Given the description of an element on the screen output the (x, y) to click on. 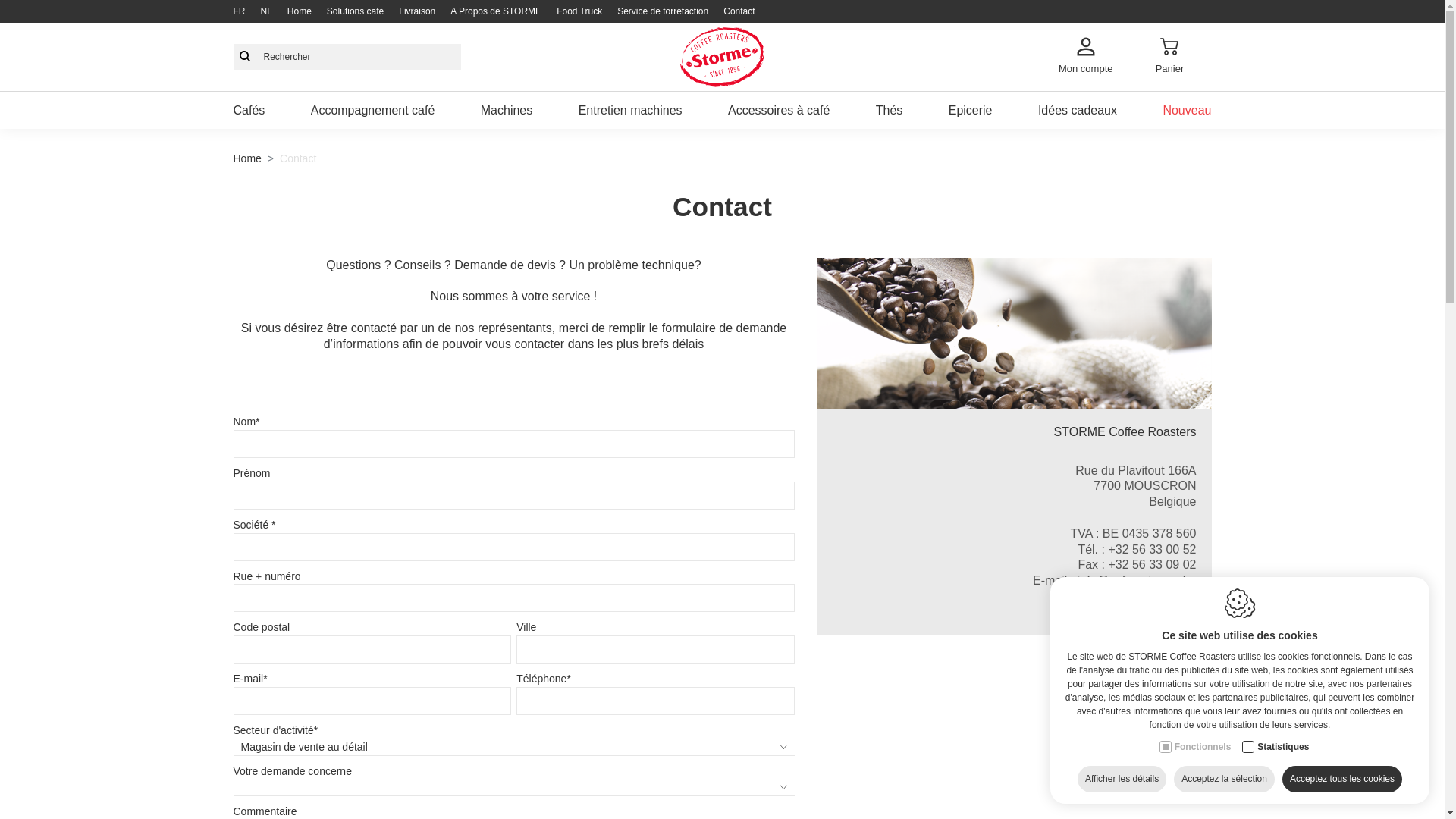
Machines Element type: text (506, 110)
Livraison Element type: text (417, 11)
Mon compte Element type: text (1085, 56)
Epicerie Element type: text (970, 110)
Food Truck Element type: text (578, 11)
Home Element type: text (299, 11)
A Propos de STORME Element type: text (495, 11)
Nouveau Element type: text (1186, 110)
NL Element type: text (266, 11)
Entretien machines Element type: text (630, 110)
+32 56 33 00 52 Element type: text (1151, 548)
Contact Element type: text (738, 11)
info@cafes-storme.be Element type: text (1136, 580)
Acceptez tous les cookies Element type: text (1342, 778)
Rechercher Element type: hover (244, 56)
Panier Element type: text (1169, 56)
Home Element type: text (247, 158)
FR Element type: text (239, 11)
